Given the description of an element on the screen output the (x, y) to click on. 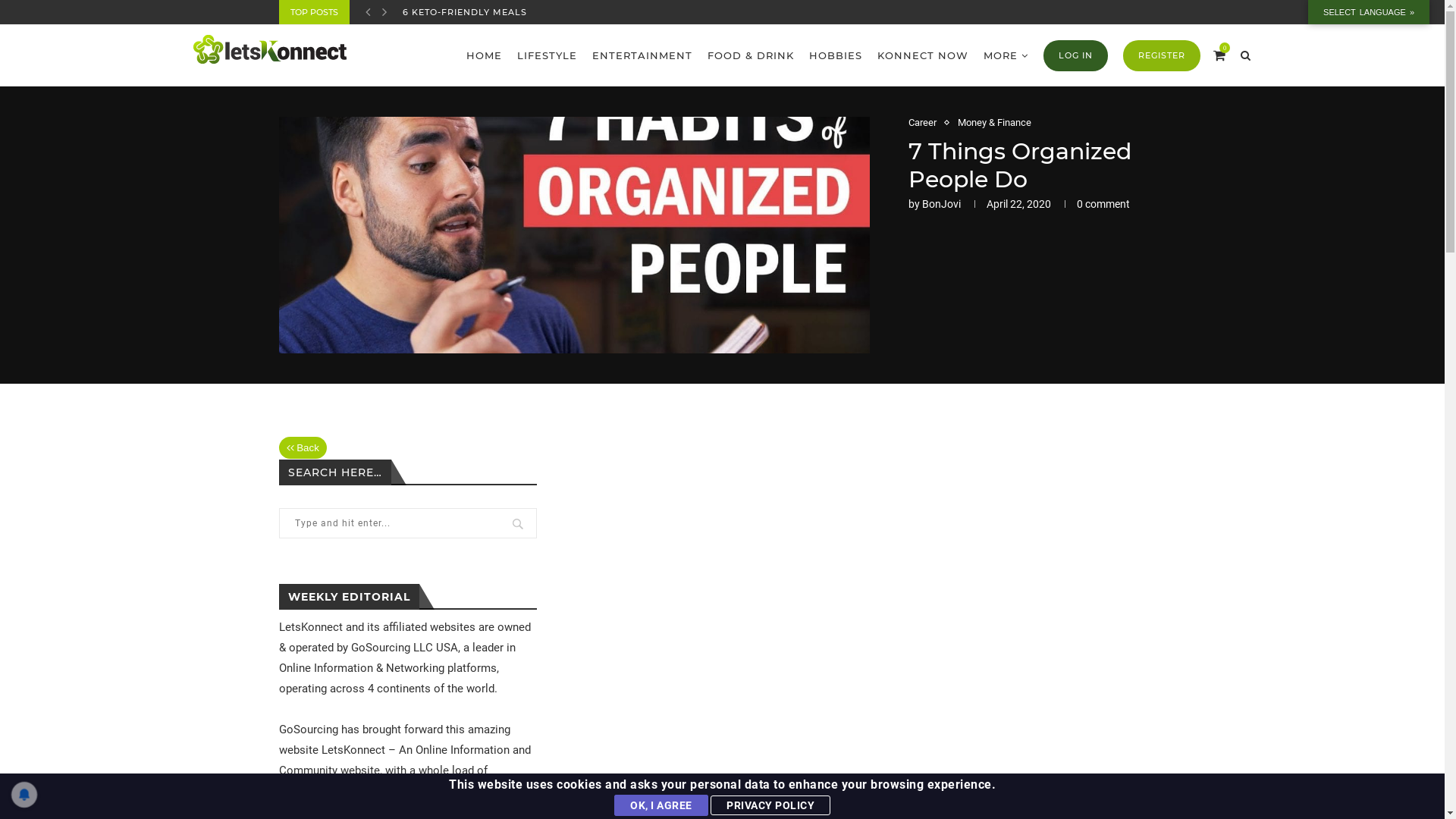
LOG IN Element type: text (1075, 55)
Career Element type: text (926, 122)
HOBBIES Element type: text (834, 55)
KONNECT NOW Element type: text (921, 55)
REGISTER Element type: text (1160, 55)
FOOD & DRINK Element type: text (749, 55)
LIFESTYLE Element type: text (547, 55)
 Webpushr Element type: text (30, 765)
Money & Finance Element type: text (993, 122)
Back Element type: text (302, 447)
THEKITCHN Element type: text (429, 12)
YouTube player Element type: hover (874, 578)
PRIVACY POLICY Element type: text (770, 805)
Like Element type: hover (673, 799)
MORE Element type: text (1004, 55)
0 Element type: text (1218, 55)
ENTERTAINMENT Element type: text (641, 55)
OK, I AGREE Element type: text (661, 804)
WEEKLY EDITORIAL Element type: text (349, 596)
BonJovi Element type: text (941, 203)
HOME Element type: text (483, 55)
